Given the description of an element on the screen output the (x, y) to click on. 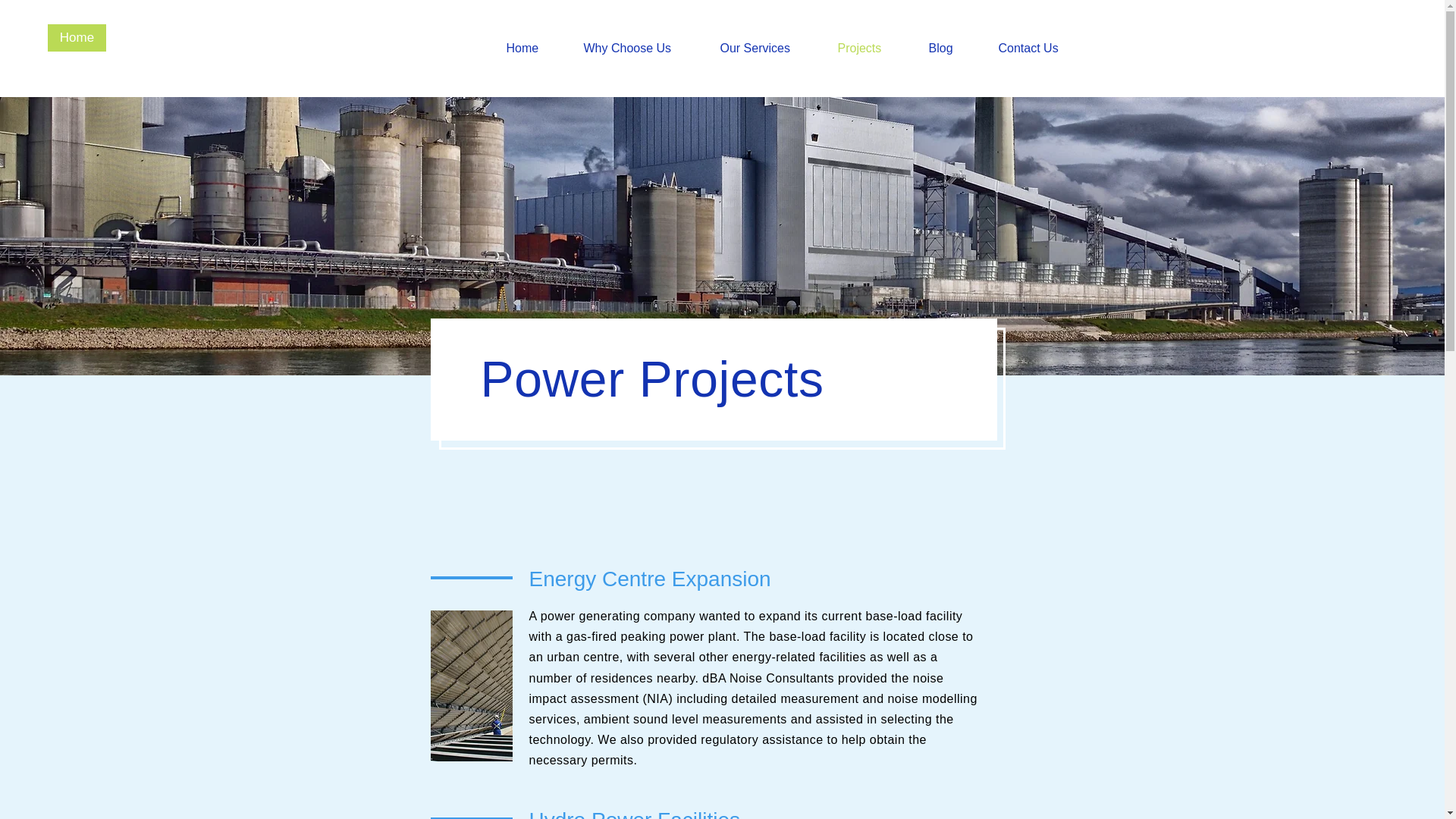
Home (77, 37)
Home (533, 48)
Our Services (766, 48)
Contact Us (1040, 48)
Why Choose Us (639, 48)
Projects (872, 48)
Blog (952, 48)
